Given the description of an element on the screen output the (x, y) to click on. 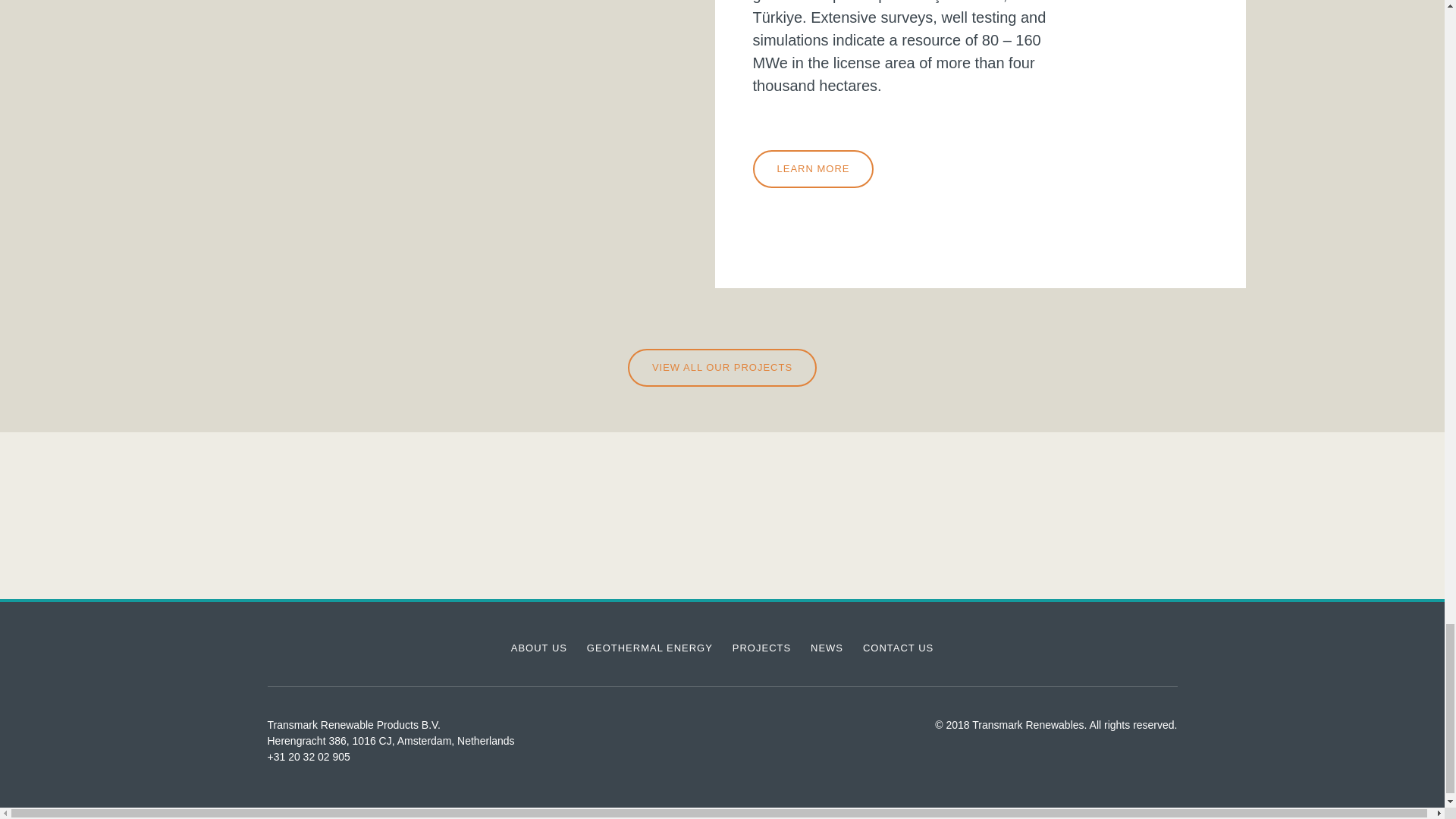
Our licenses and operations (761, 647)
GEOTHERMAL ENERGY (649, 647)
Contact information for Transmark Renewables (898, 647)
View all our projects (721, 367)
ABOUT US (539, 647)
An overview of Geothermal Energy (649, 647)
CONTACT US (898, 647)
NEWS (826, 647)
About Transmark Renewables (539, 647)
PROJECTS (761, 647)
LEARN MORE (812, 168)
VIEW ALL OUR PROJECTS (721, 367)
